Given the description of an element on the screen output the (x, y) to click on. 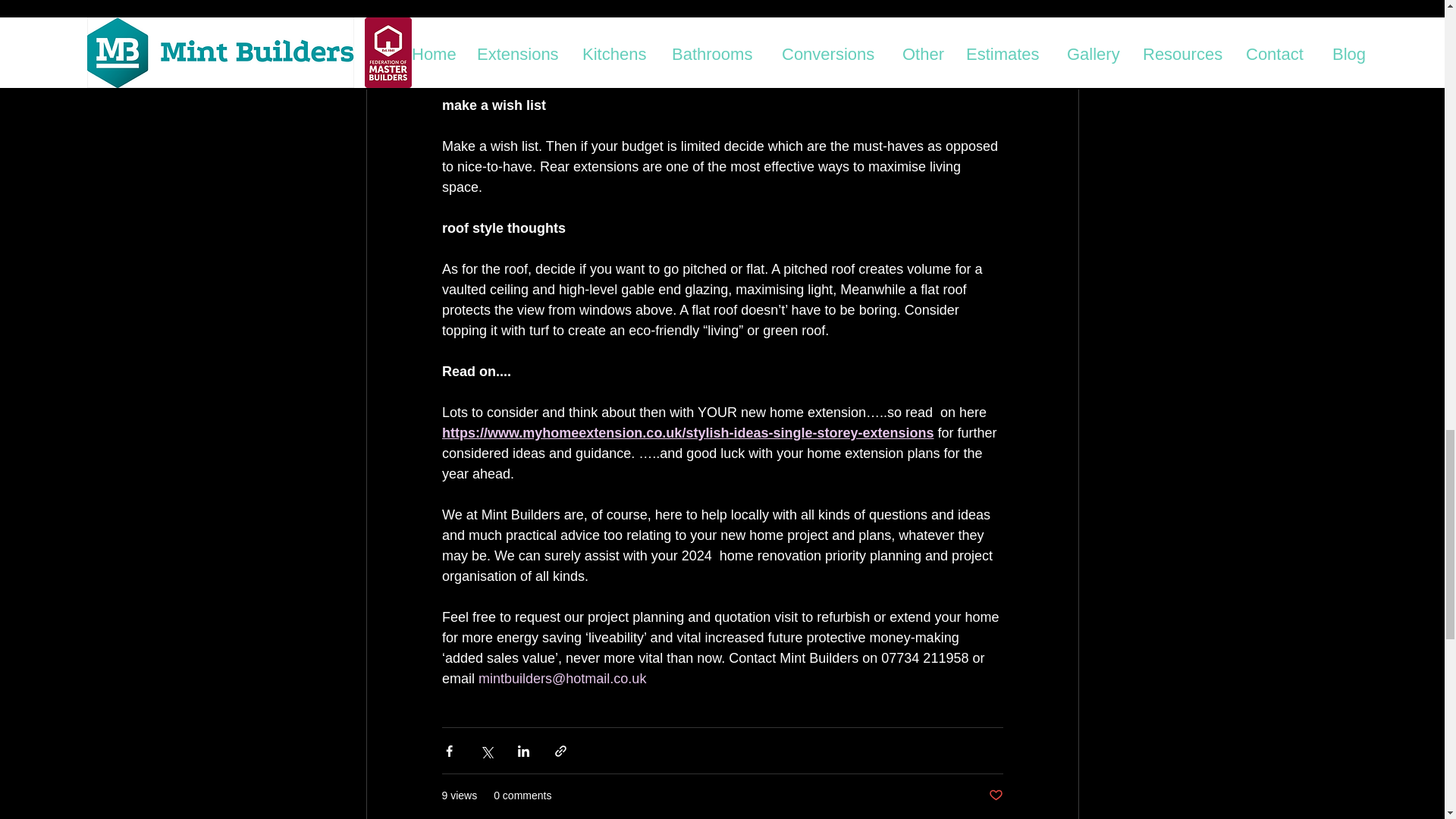
Post not marked as liked (995, 795)
